Given the description of an element on the screen output the (x, y) to click on. 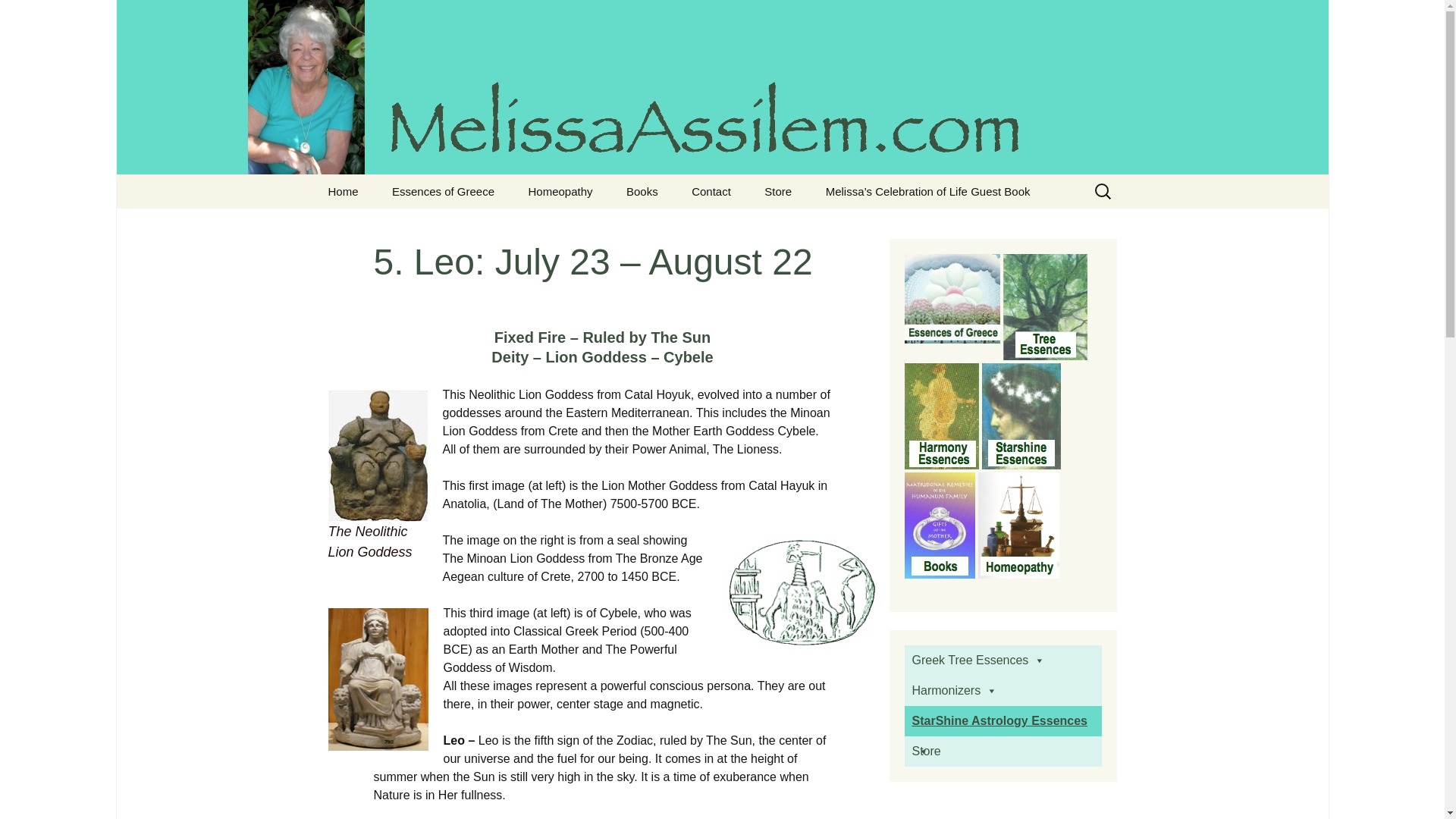
Search (18, 15)
Essences of Greece (443, 191)
Books (641, 191)
Greek Tree Essences (342, 191)
Contact (452, 225)
Greek Tree Essence order form (711, 191)
